Given the description of an element on the screen output the (x, y) to click on. 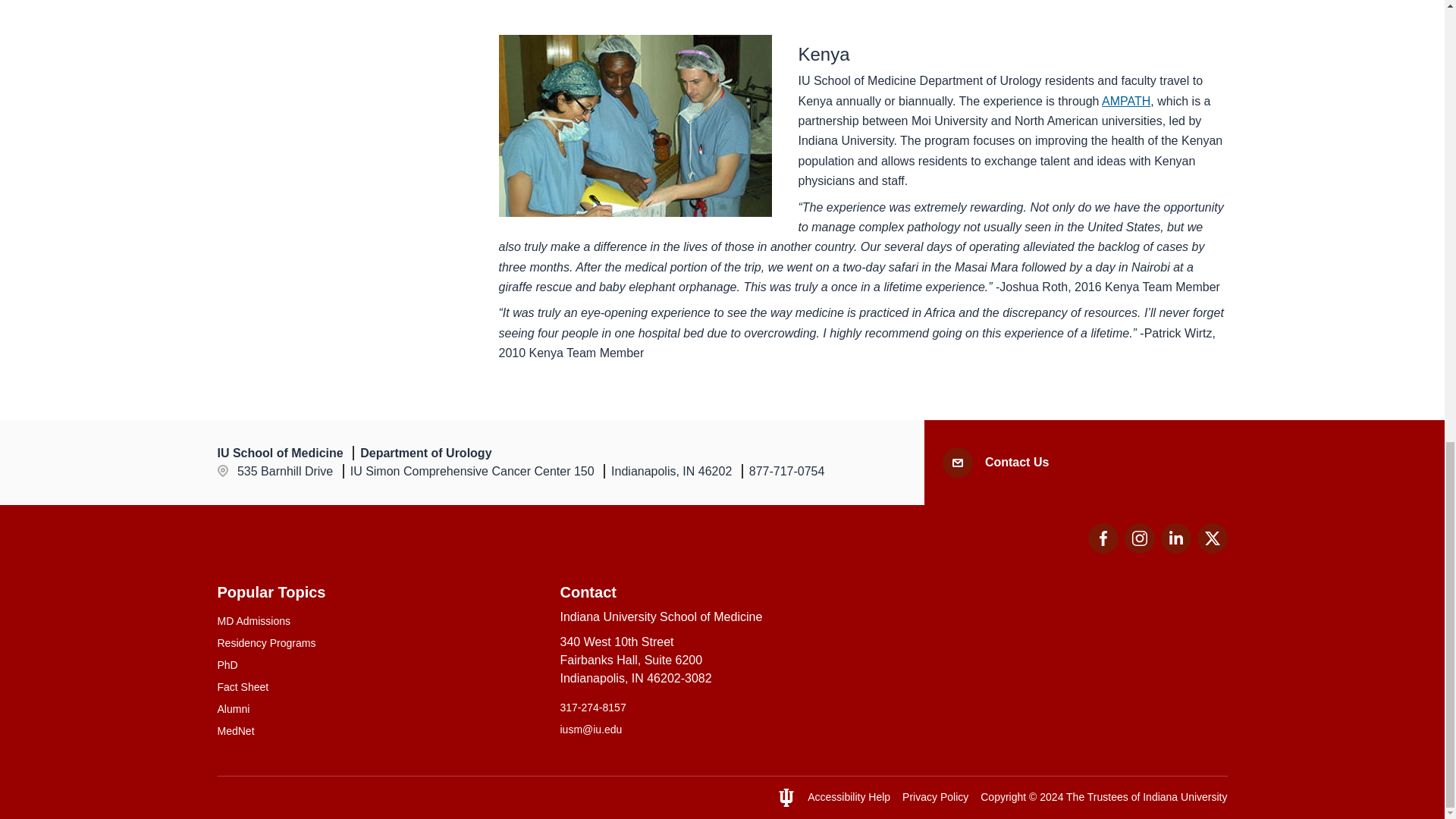
Residency Programs (378, 643)
Privacy Policy (935, 797)
Copyright (1002, 797)
LinkedIn (1175, 538)
Accessibility Help (1175, 549)
Alumni (848, 797)
MD Admissions (1211, 549)
